Given the description of an element on the screen output the (x, y) to click on. 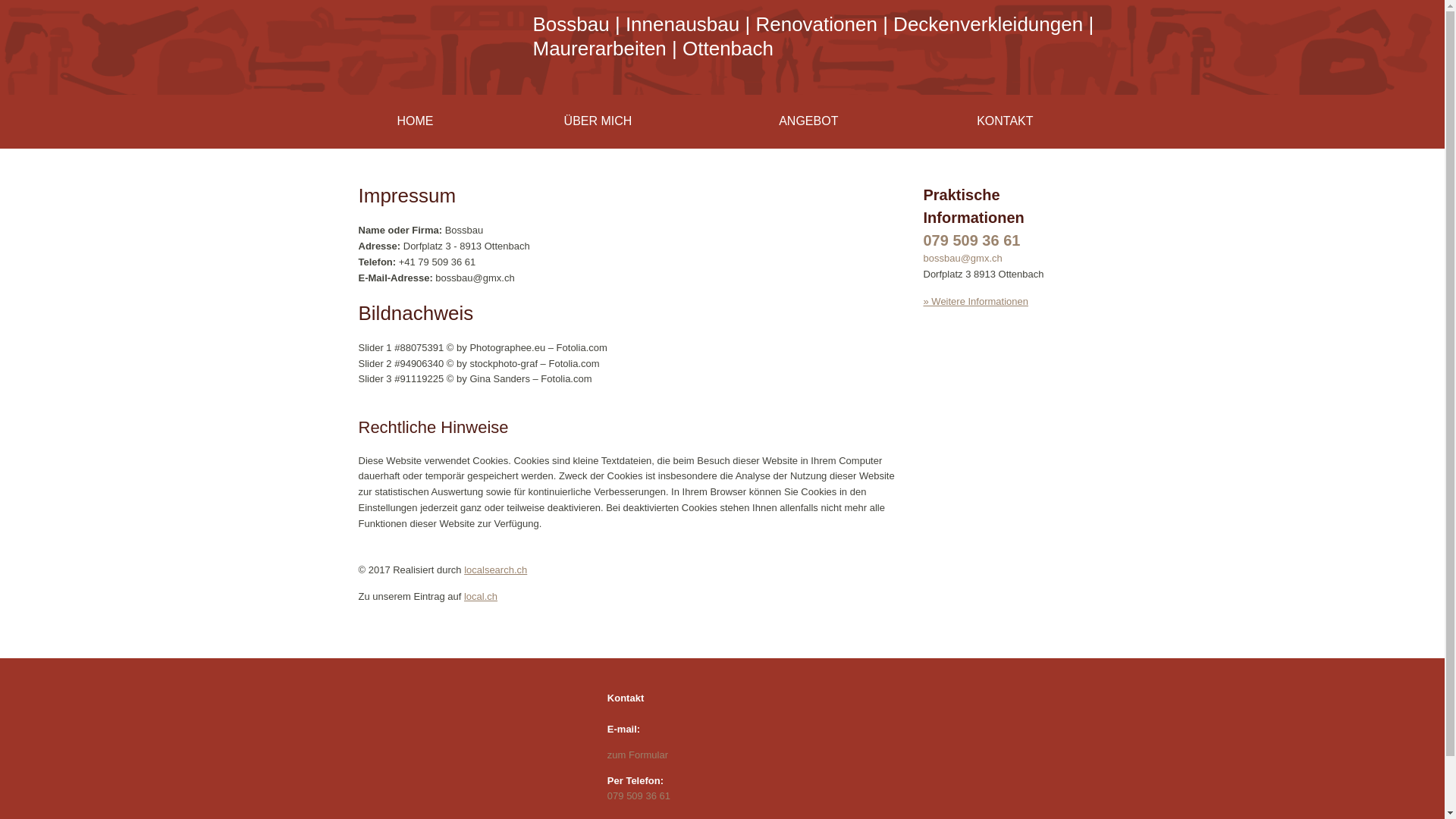
localsearch.ch Element type: text (495, 569)
local.ch Element type: text (480, 596)
KONTAKT Element type: text (1004, 121)
079 509 36 61 Element type: text (971, 240)
079 509 36 61 Element type: text (638, 795)
HOME Element type: text (414, 121)
bossbau@gmx.ch Element type: text (962, 257)
zum Formular Element type: text (637, 754)
ANGEBOT Element type: text (808, 121)
